Given the description of an element on the screen output the (x, y) to click on. 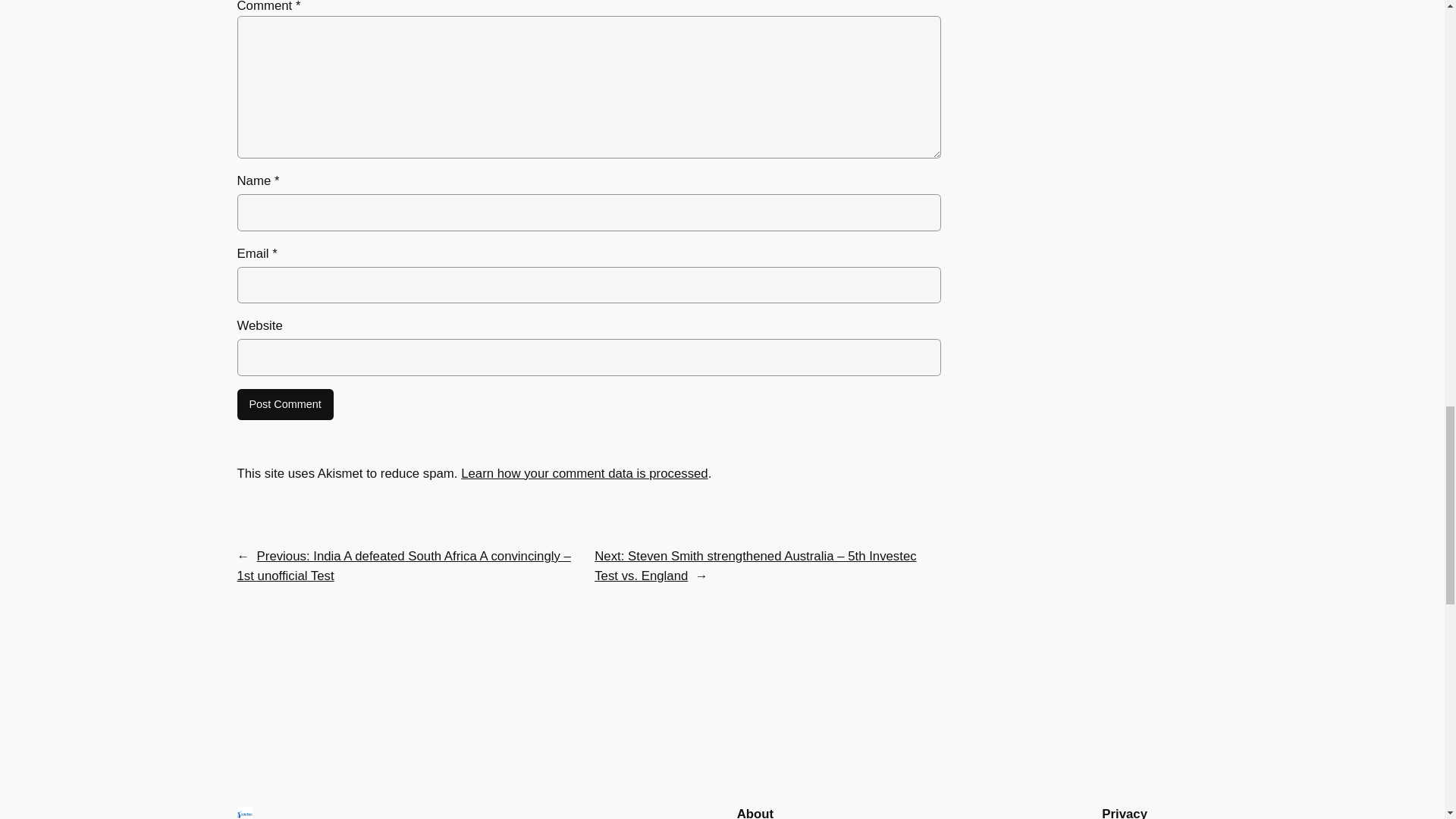
Learn how your comment data is processed (584, 473)
Post Comment (284, 404)
Post Comment (284, 404)
